Given the description of an element on the screen output the (x, y) to click on. 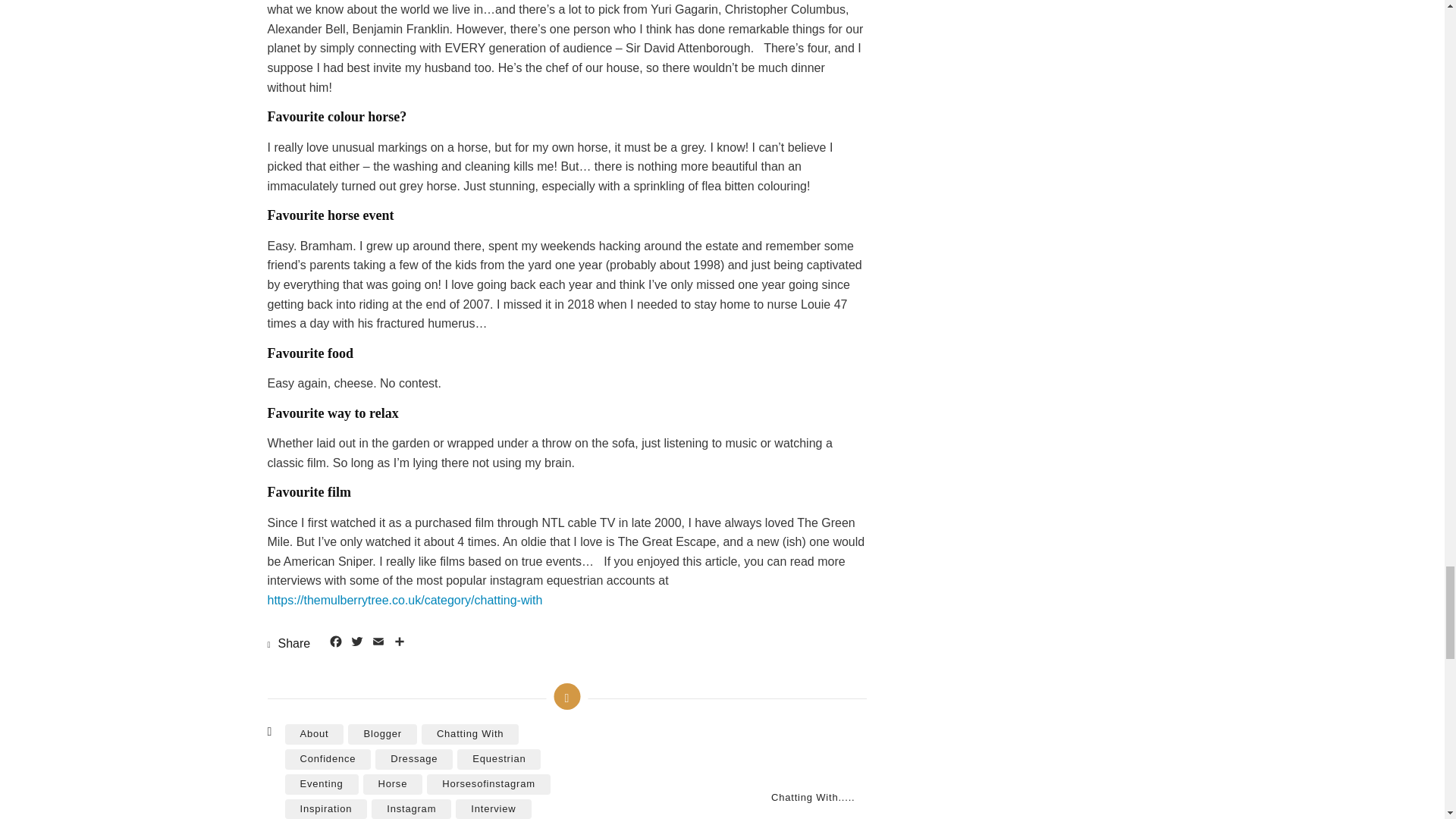
Twitter (357, 642)
Twitter (357, 642)
Blogger (381, 733)
Confidence (328, 759)
Facebook (335, 642)
Share (399, 642)
Facebook (335, 642)
Chatting With (470, 733)
Email (378, 642)
Email (378, 642)
About (314, 733)
